Given the description of an element on the screen output the (x, y) to click on. 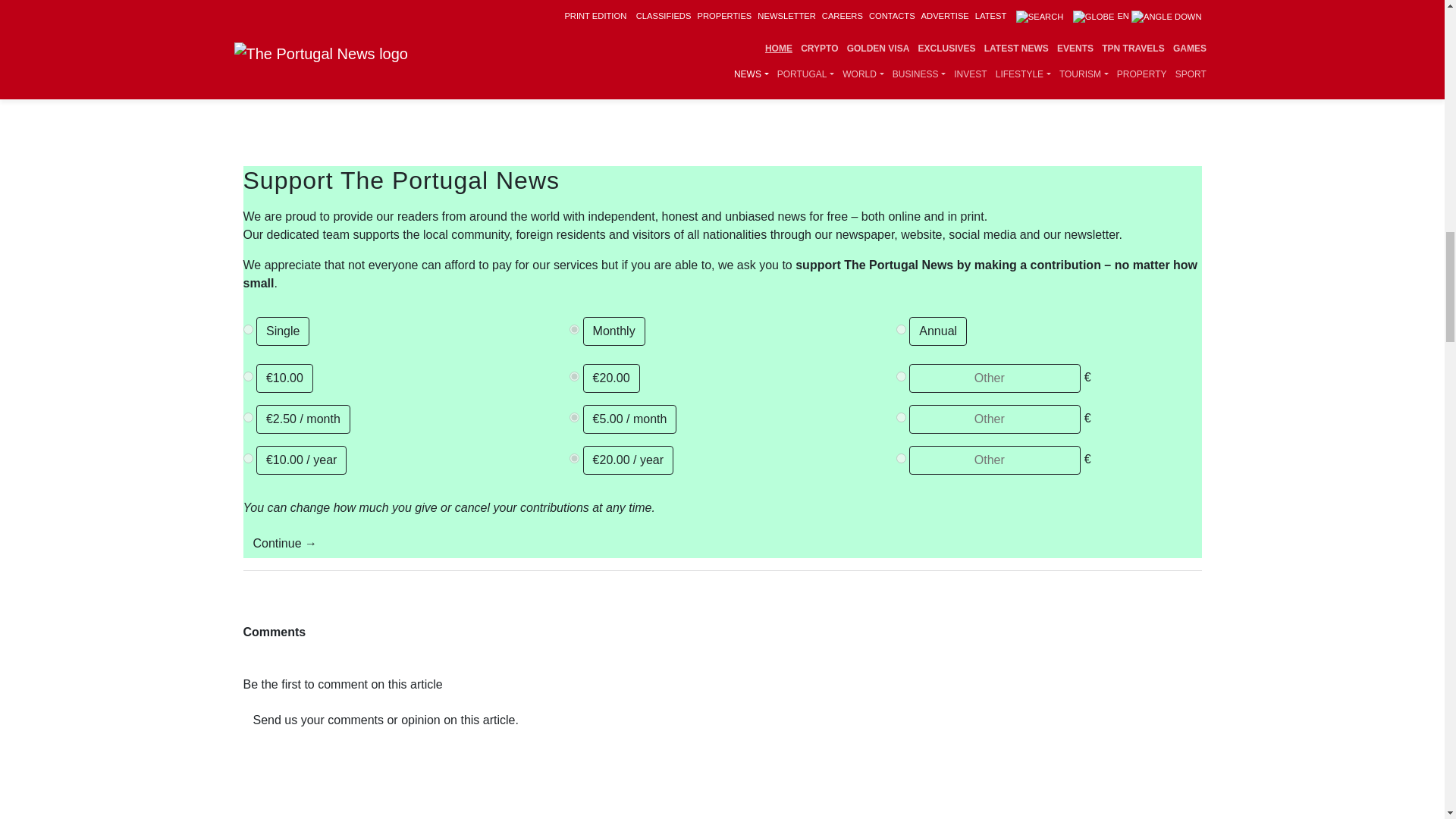
5 (574, 417)
20 (574, 376)
2.5 (247, 417)
20 (574, 458)
P-6T2758016F920900CMGGQYMQ (574, 329)
10 (247, 458)
single (247, 329)
10 (247, 376)
P-18662245734186221MGVD6SI (900, 329)
